Given the description of an element on the screen output the (x, y) to click on. 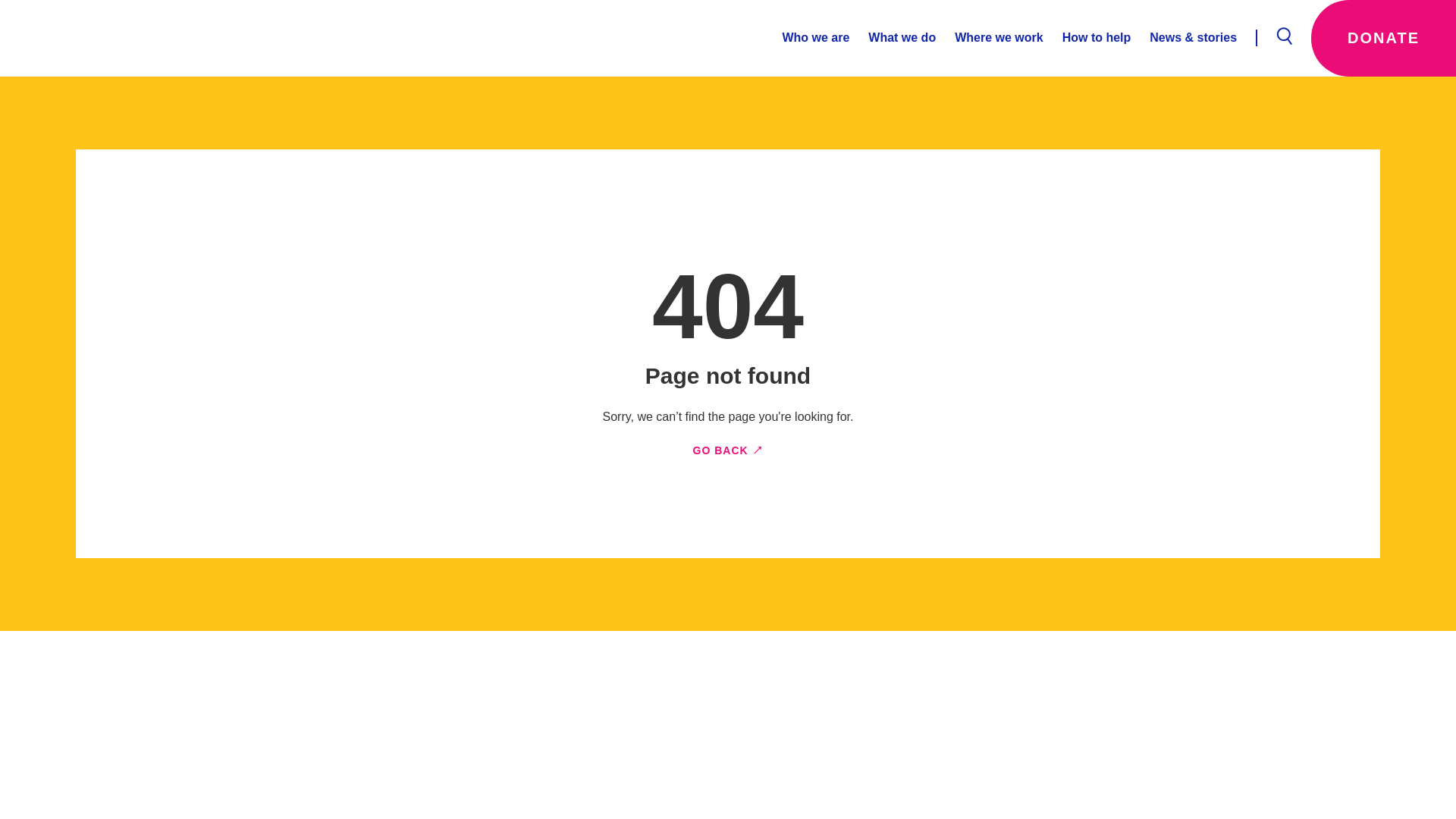
Where we work (989, 37)
Who we are (814, 37)
What we do (892, 37)
